Given the description of an element on the screen output the (x, y) to click on. 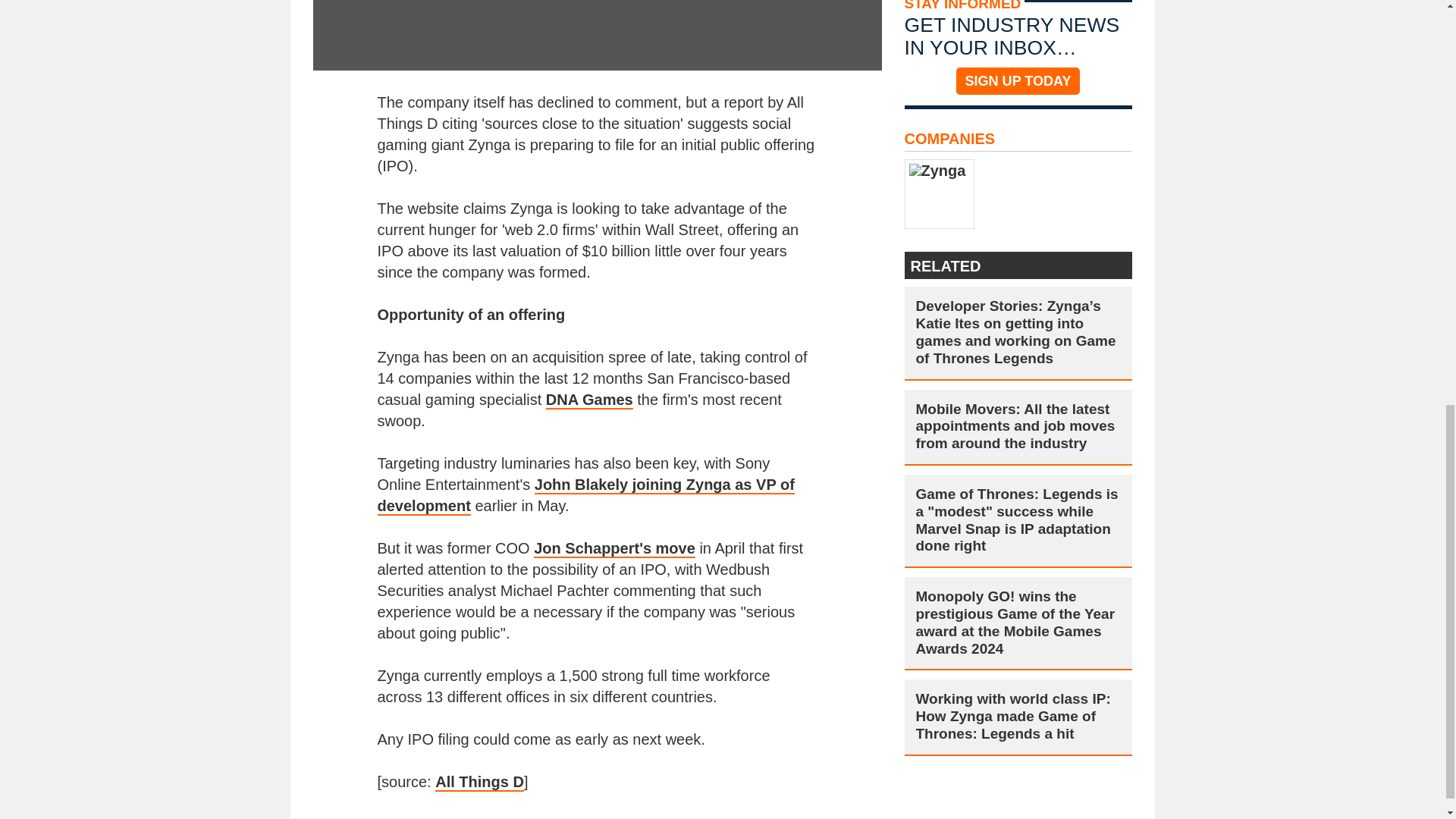
DNA Games (589, 400)
John Blakely joining Zynga as VP of development (585, 495)
All Things D (479, 782)
Jon Schappert's move (614, 548)
